Given the description of an element on the screen output the (x, y) to click on. 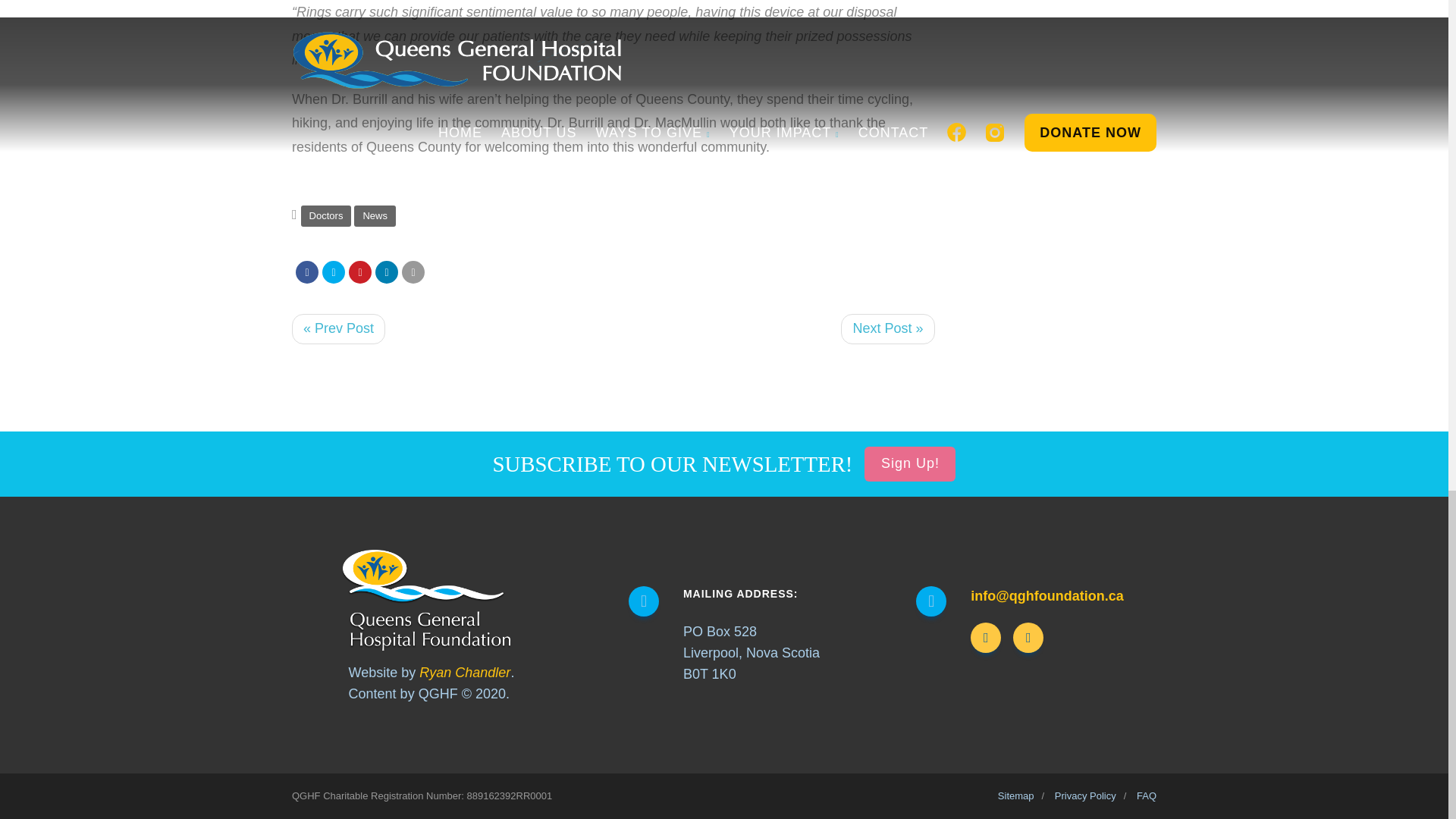
Share on Facebook (306, 272)
Tweet (333, 272)
News (374, 215)
Pin it (360, 272)
Doctors (326, 215)
Share on Linkedin (386, 272)
Email (413, 272)
